Given the description of an element on the screen output the (x, y) to click on. 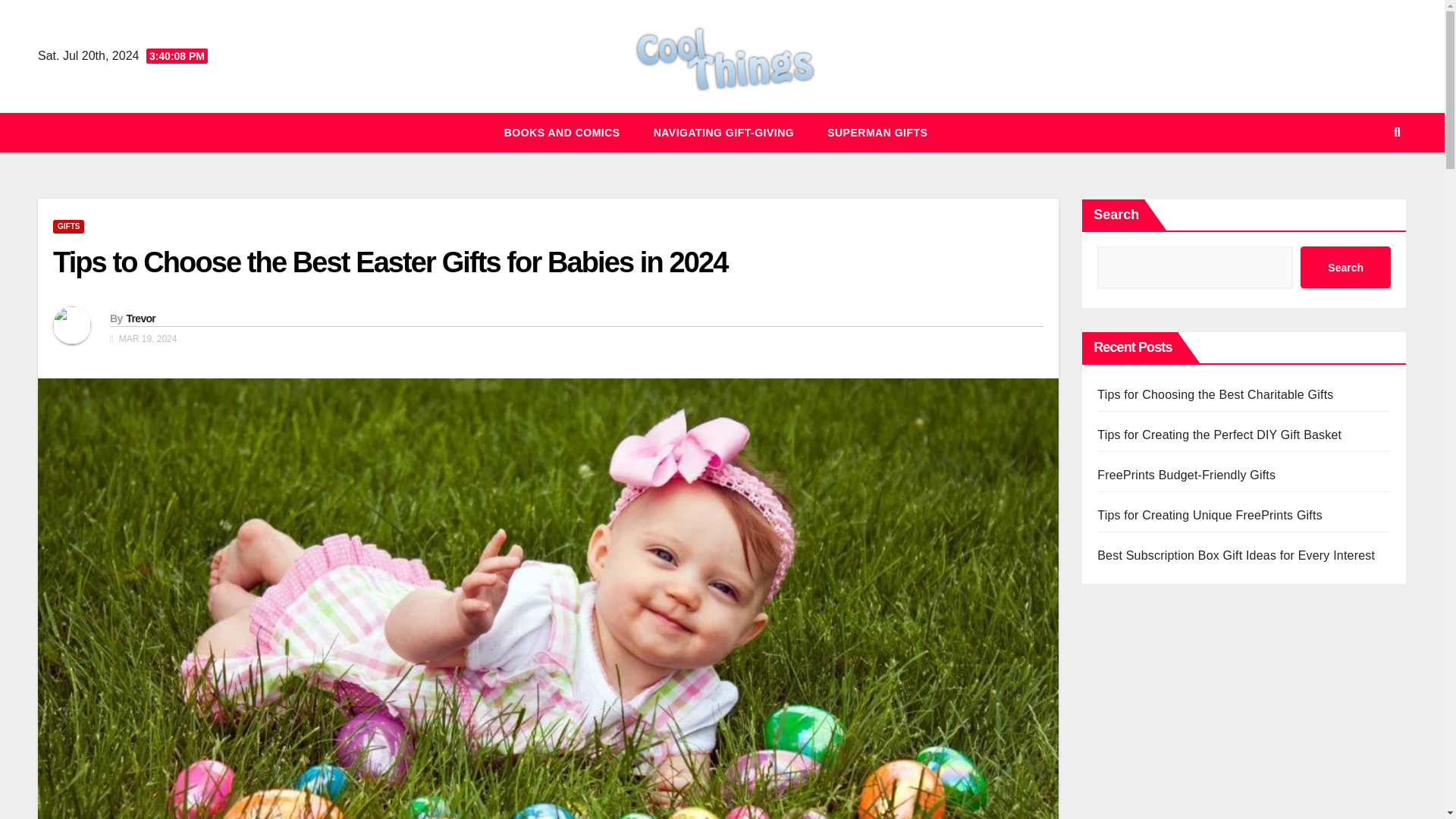
Search (1345, 267)
Navigating Gift-Giving (723, 132)
NAVIGATING GIFT-GIVING (723, 132)
GIFTS (68, 226)
Books and Comics (562, 132)
Tips for Choosing the Best Charitable Gifts (1215, 394)
Tips to Choose the Best Easter Gifts for Babies in 2024 (389, 262)
Tips for Creating the Perfect DIY Gift Basket (1218, 434)
BOOKS AND COMICS (562, 132)
Trevor (140, 318)
SUPERMAN GIFTS (876, 132)
Superman Gifts (876, 132)
